Given the description of an element on the screen output the (x, y) to click on. 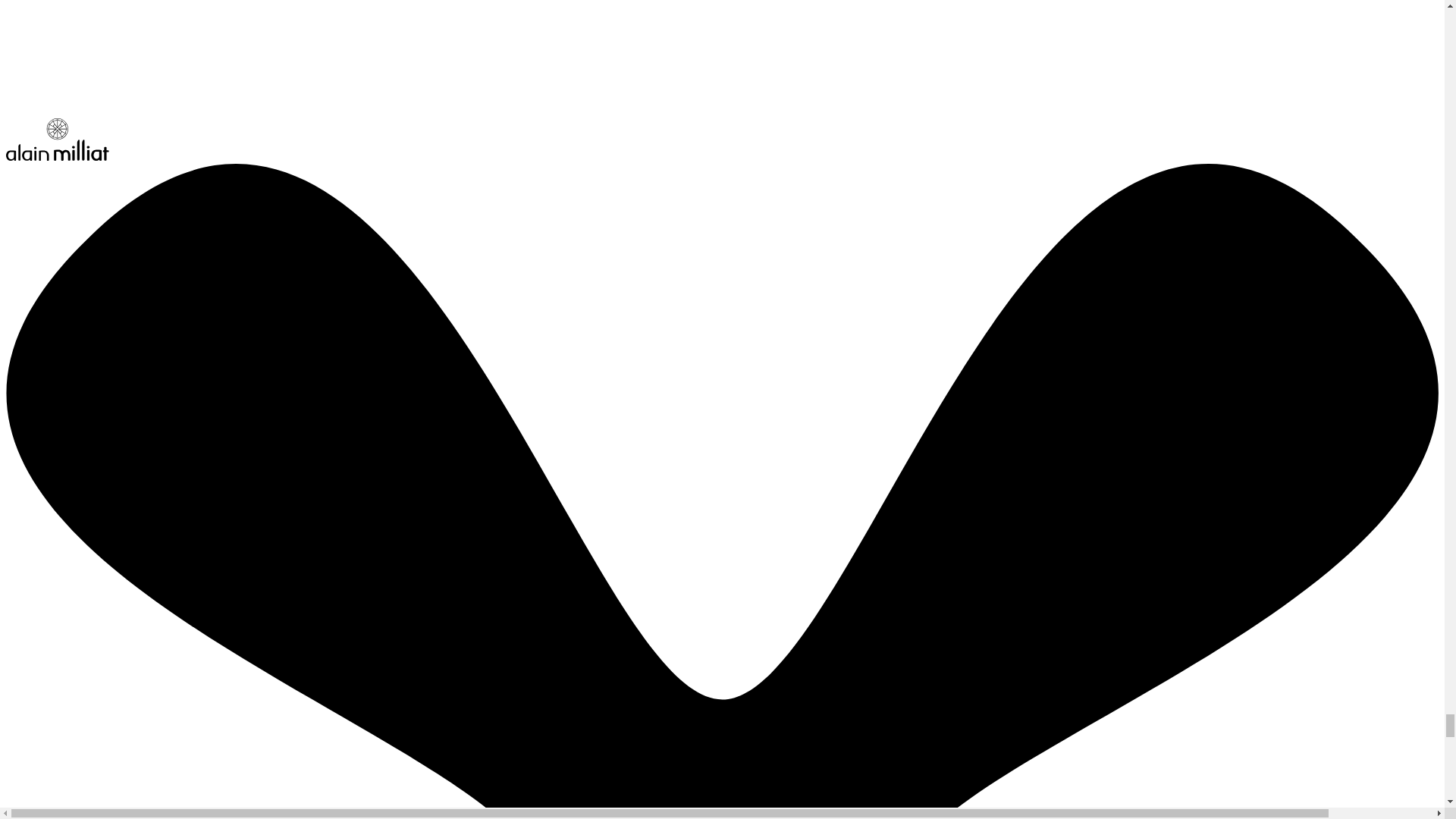
Alain Milliat with the fruit punch cut out on top (57, 155)
Alain Milliat with the fruit punch cut out on top (57, 138)
